Given the description of an element on the screen output the (x, y) to click on. 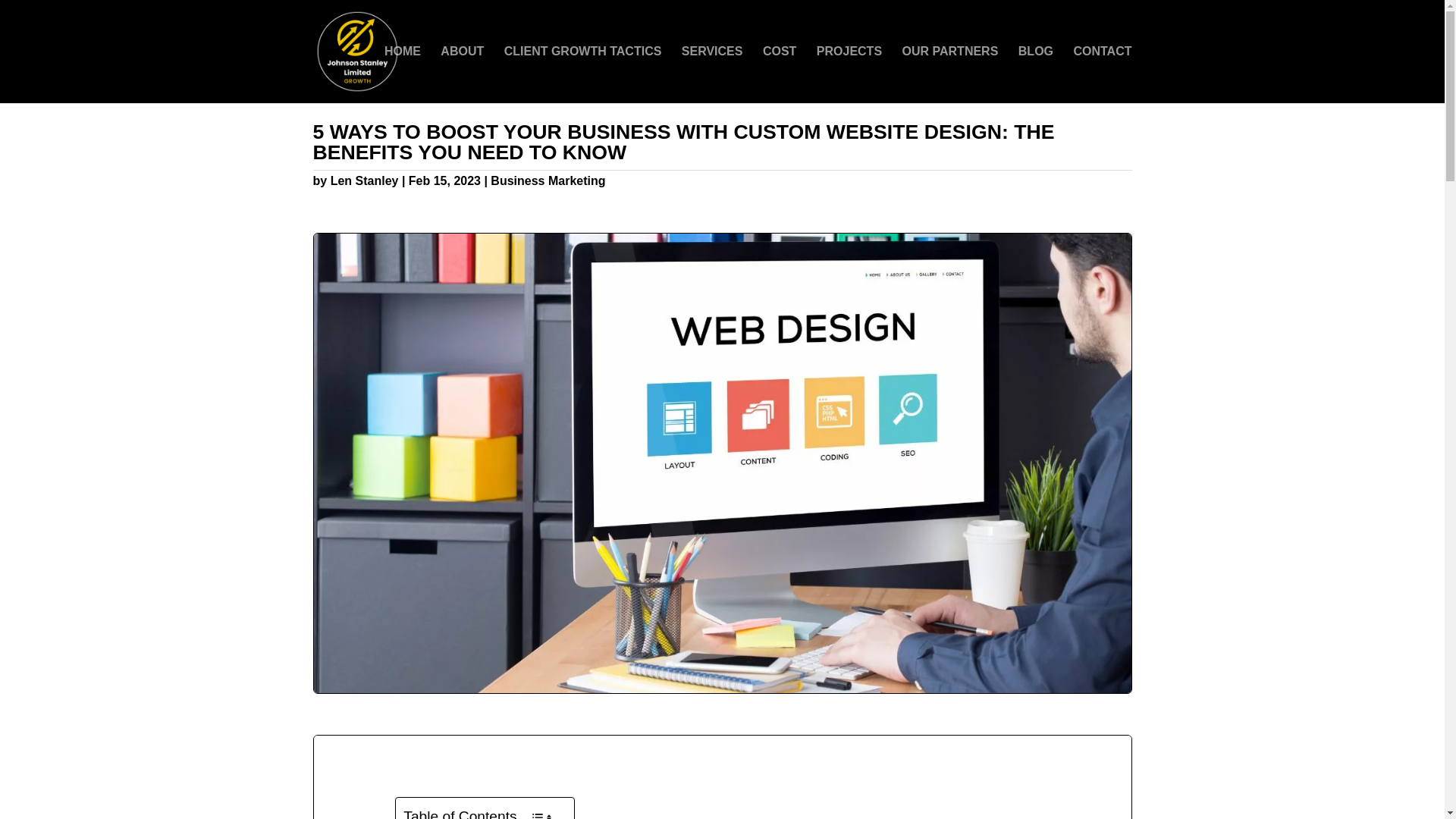
Len Stanley (364, 180)
CONTACT (1102, 74)
Posts by Len Stanley (364, 180)
PROJECTS (849, 74)
Business Marketing (547, 180)
CLIENT GROWTH TACTICS (582, 74)
OUR PARTNERS (950, 74)
SERVICES (711, 74)
